Given the description of an element on the screen output the (x, y) to click on. 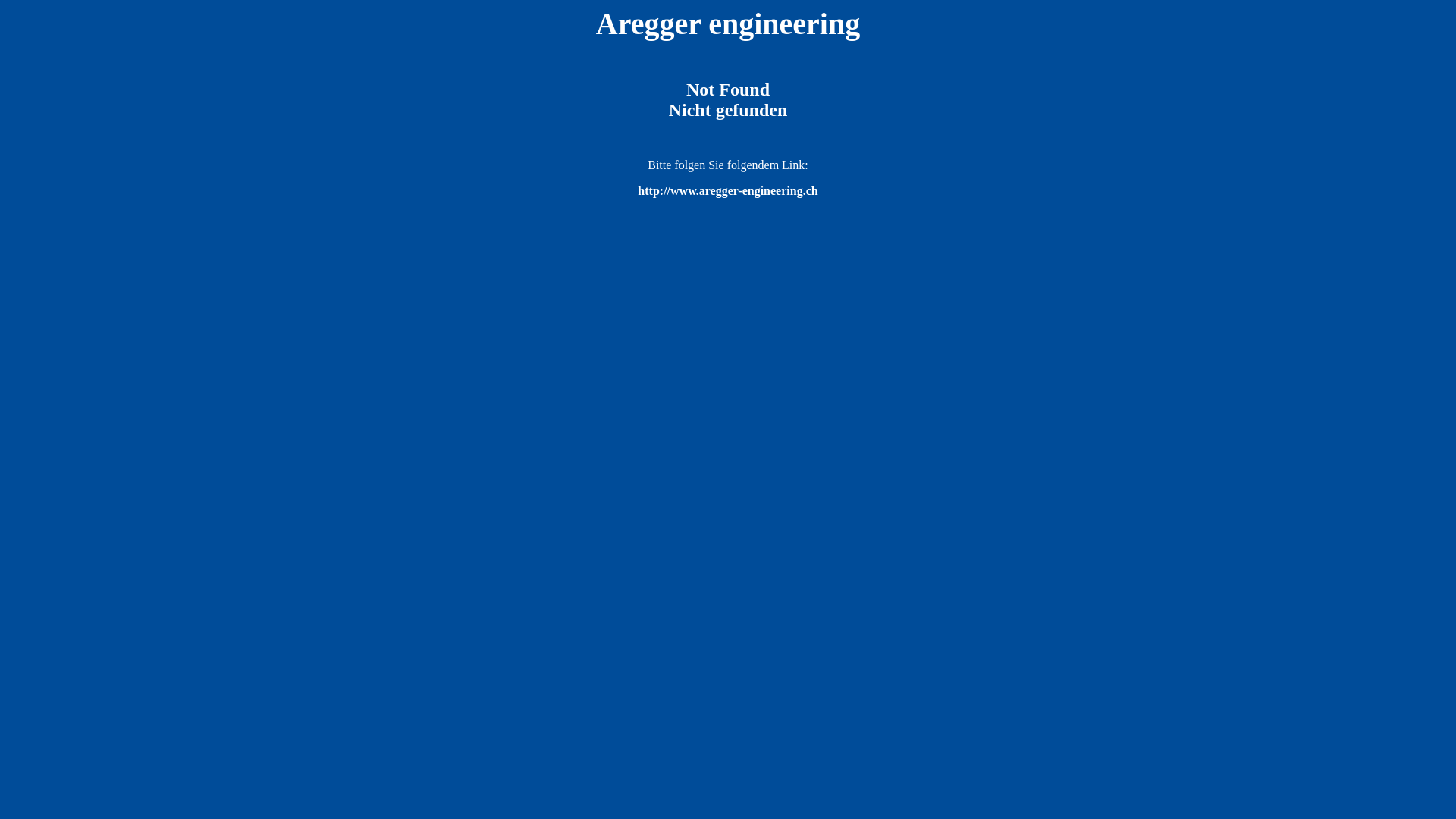
http://www.aregger-engineering.ch Element type: text (727, 190)
